Given the description of an element on the screen output the (x, y) to click on. 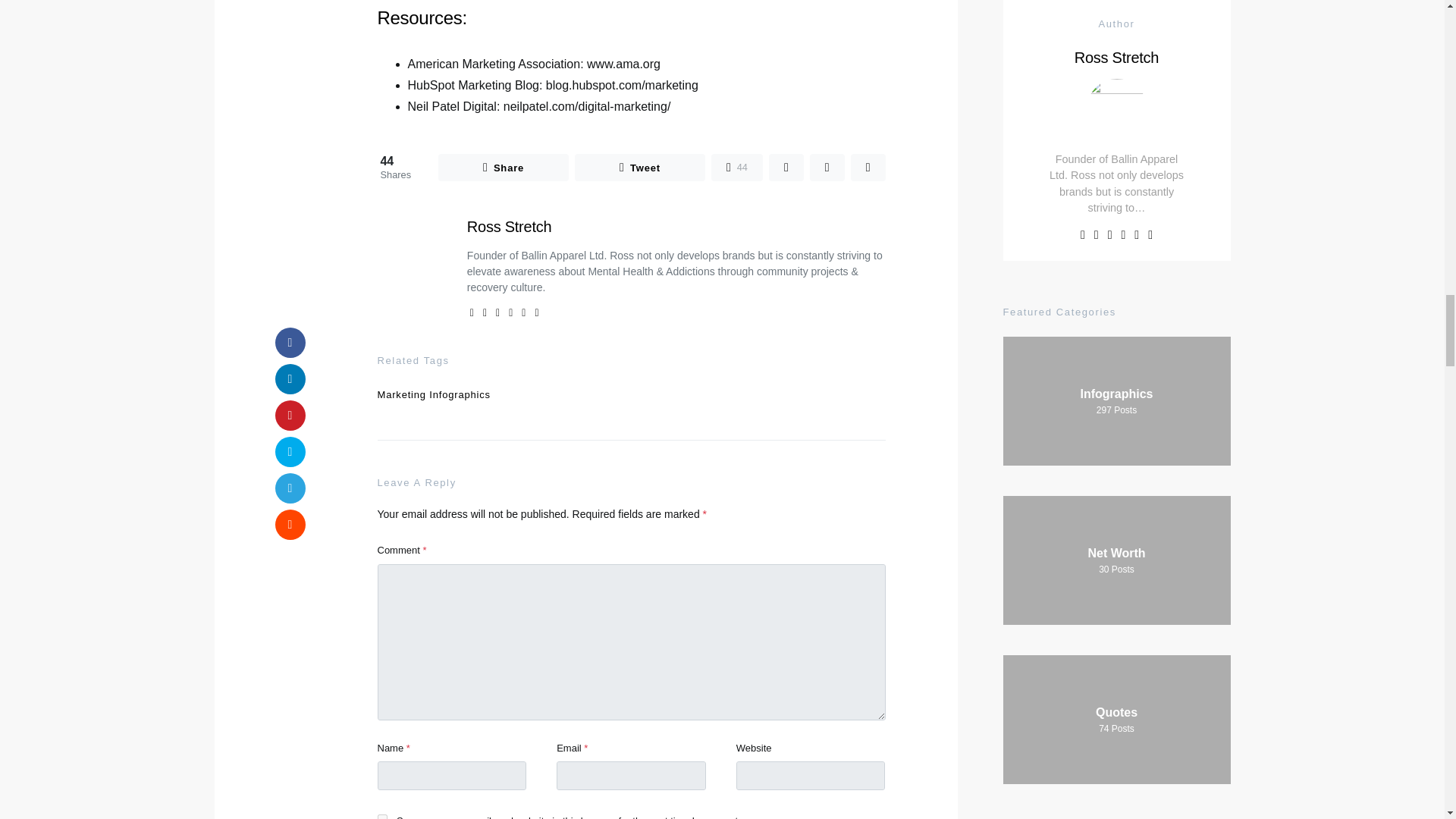
yes (382, 816)
